Given the description of an element on the screen output the (x, y) to click on. 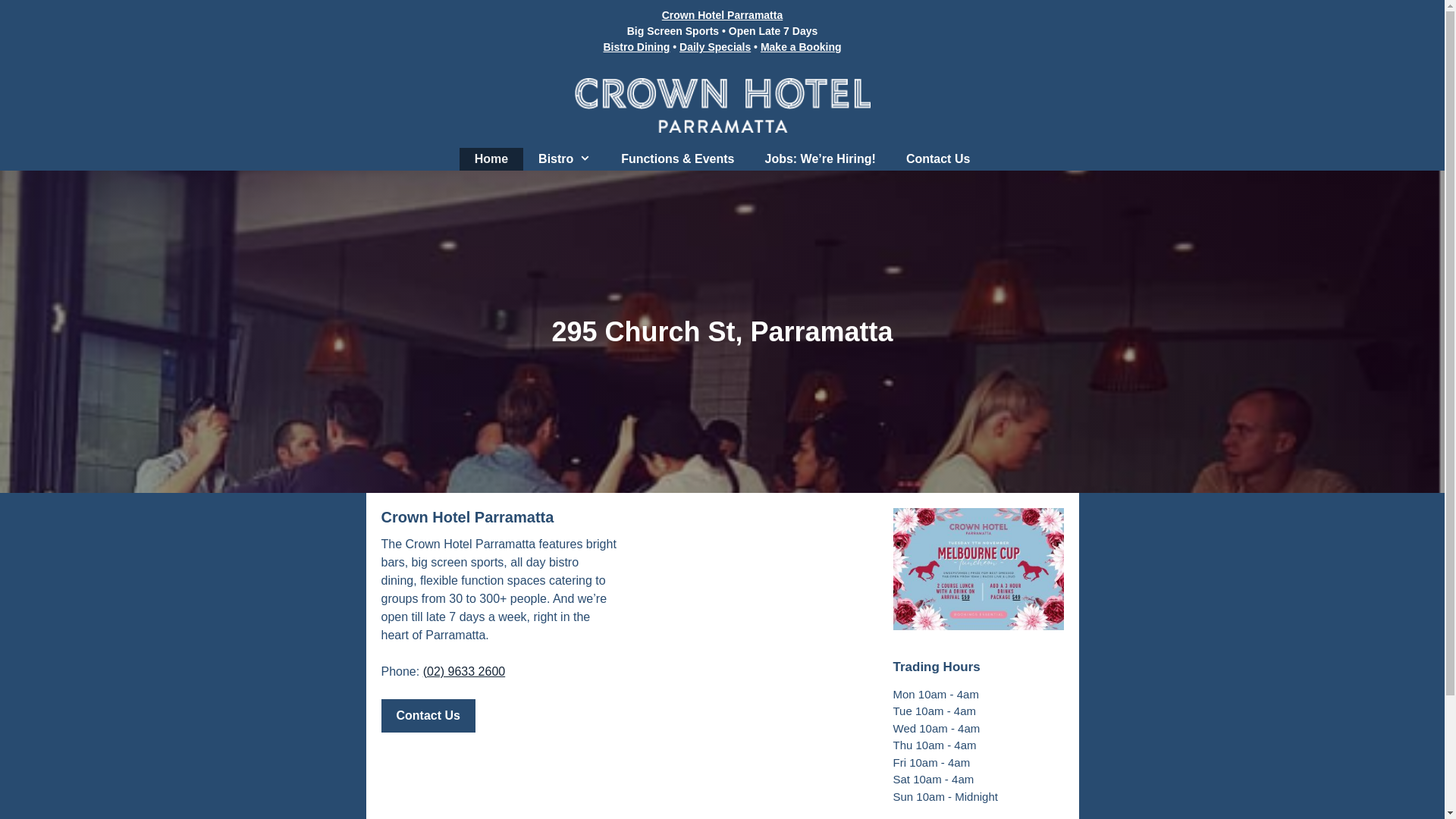
Bistro Element type: text (564, 158)
(02) 9633 2600 Element type: text (464, 671)
Home Element type: text (491, 158)
Daily Specials Element type: text (714, 46)
Bistro Dining Element type: text (635, 46)
Contact Us Element type: text (938, 158)
Functions & Events Element type: text (677, 158)
Make a Booking Element type: text (800, 46)
Crown Hotel Parramatta Element type: text (722, 15)
Contact Us Element type: text (427, 715)
